Given the description of an element on the screen output the (x, y) to click on. 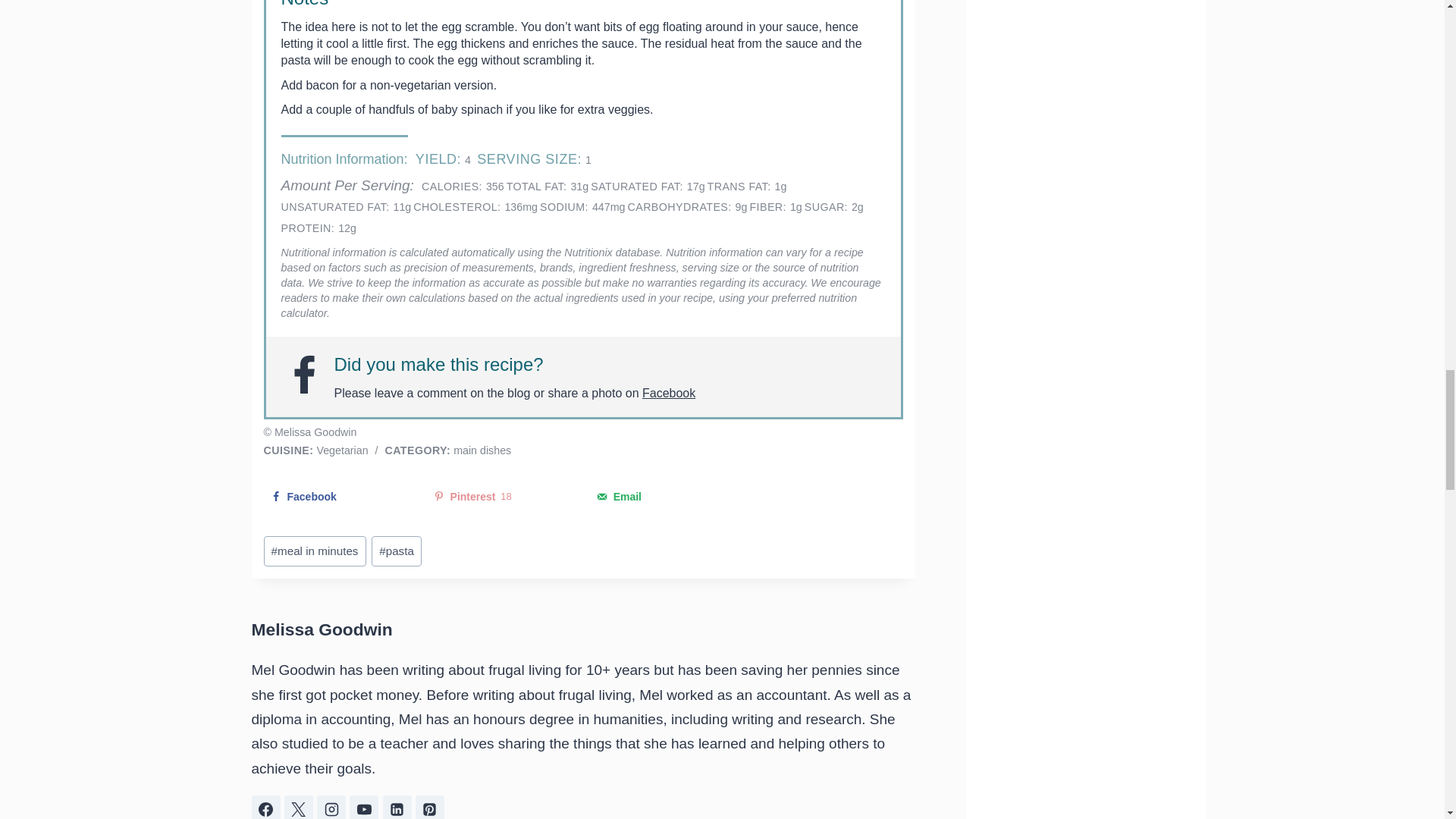
Follow Melissa Goodwin on Pinterest (429, 807)
Follow Melissa Goodwin on Facebook (266, 807)
meal in minutes (314, 551)
Follow Melissa Goodwin on Linkedin (397, 807)
Follow Melissa Goodwin on Youtube (363, 807)
Share on Facebook (338, 496)
Save to Pinterest (501, 496)
Follow Melissa Goodwin on Instagram (331, 807)
pasta (396, 551)
Send over email (664, 496)
